Given the description of an element on the screen output the (x, y) to click on. 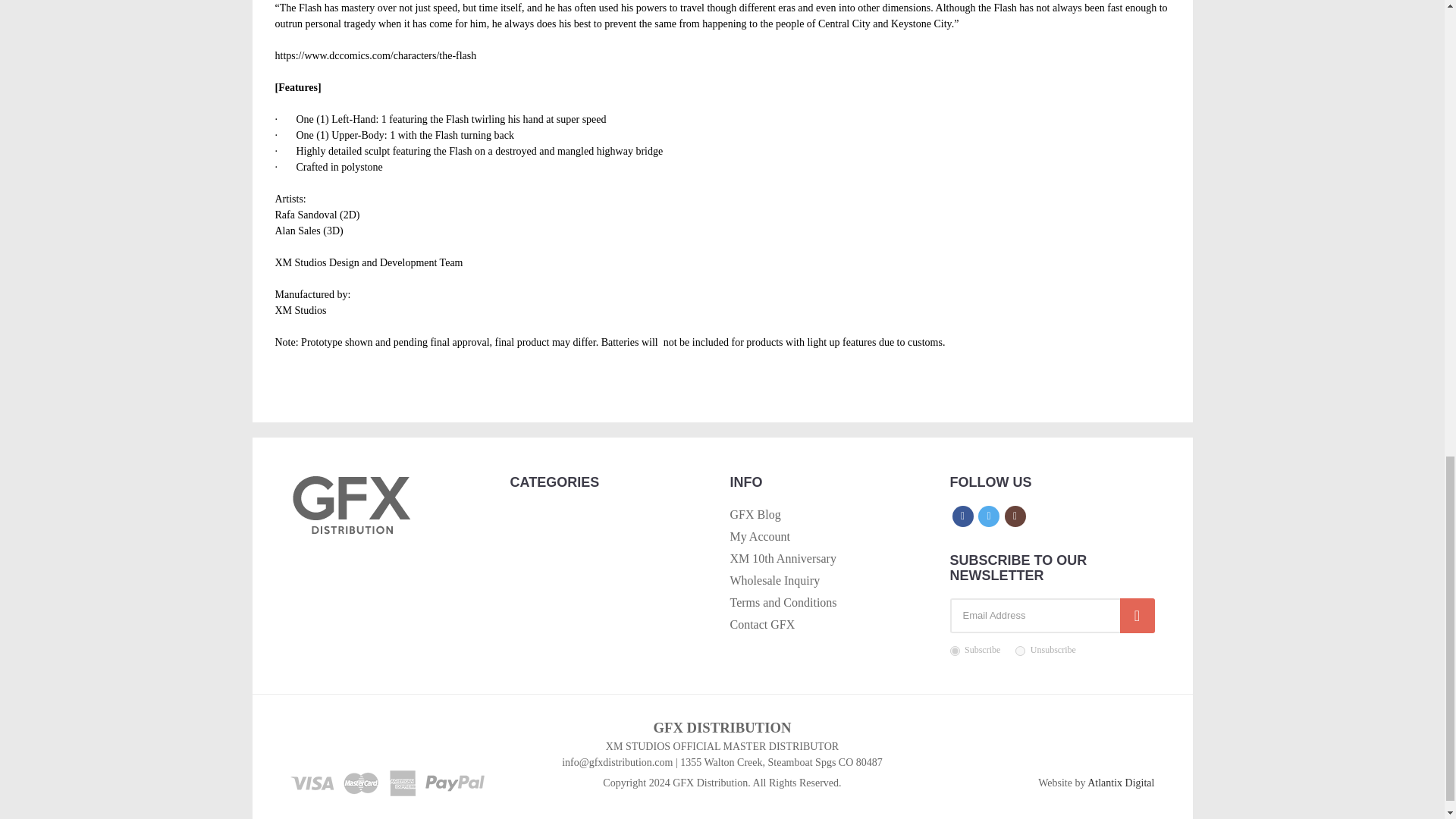
1 (954, 651)
0 (1019, 651)
Like Us on Facebook (963, 516)
